Given the description of an element on the screen output the (x, y) to click on. 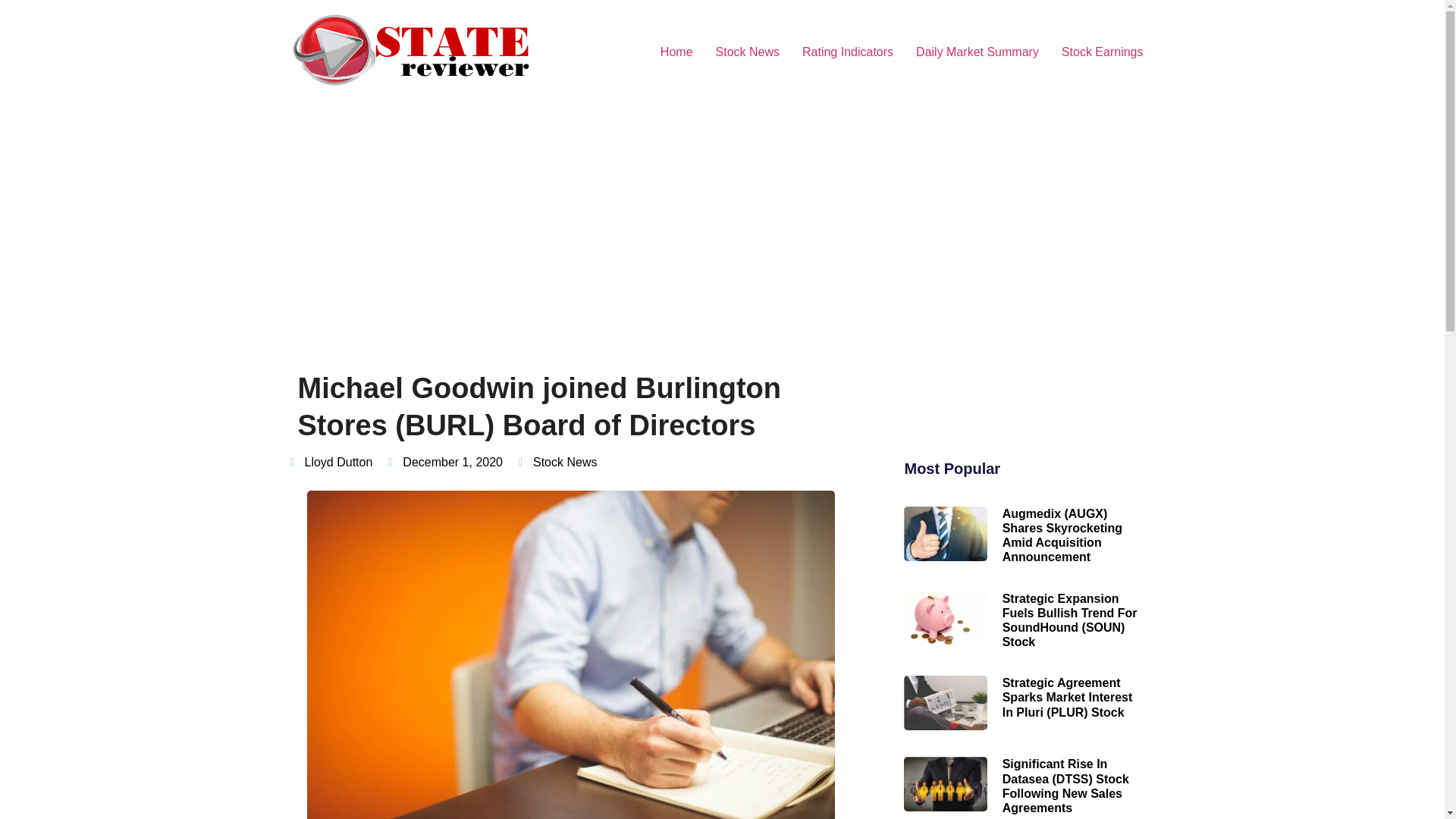
December 1, 2020 (445, 462)
Rating Indicators (847, 51)
Daily Market Summary (976, 51)
Lloyd Dutton (330, 462)
Stock Earnings (1101, 51)
Stock News (564, 461)
Home (676, 51)
Stock News (747, 51)
